Given the description of an element on the screen output the (x, y) to click on. 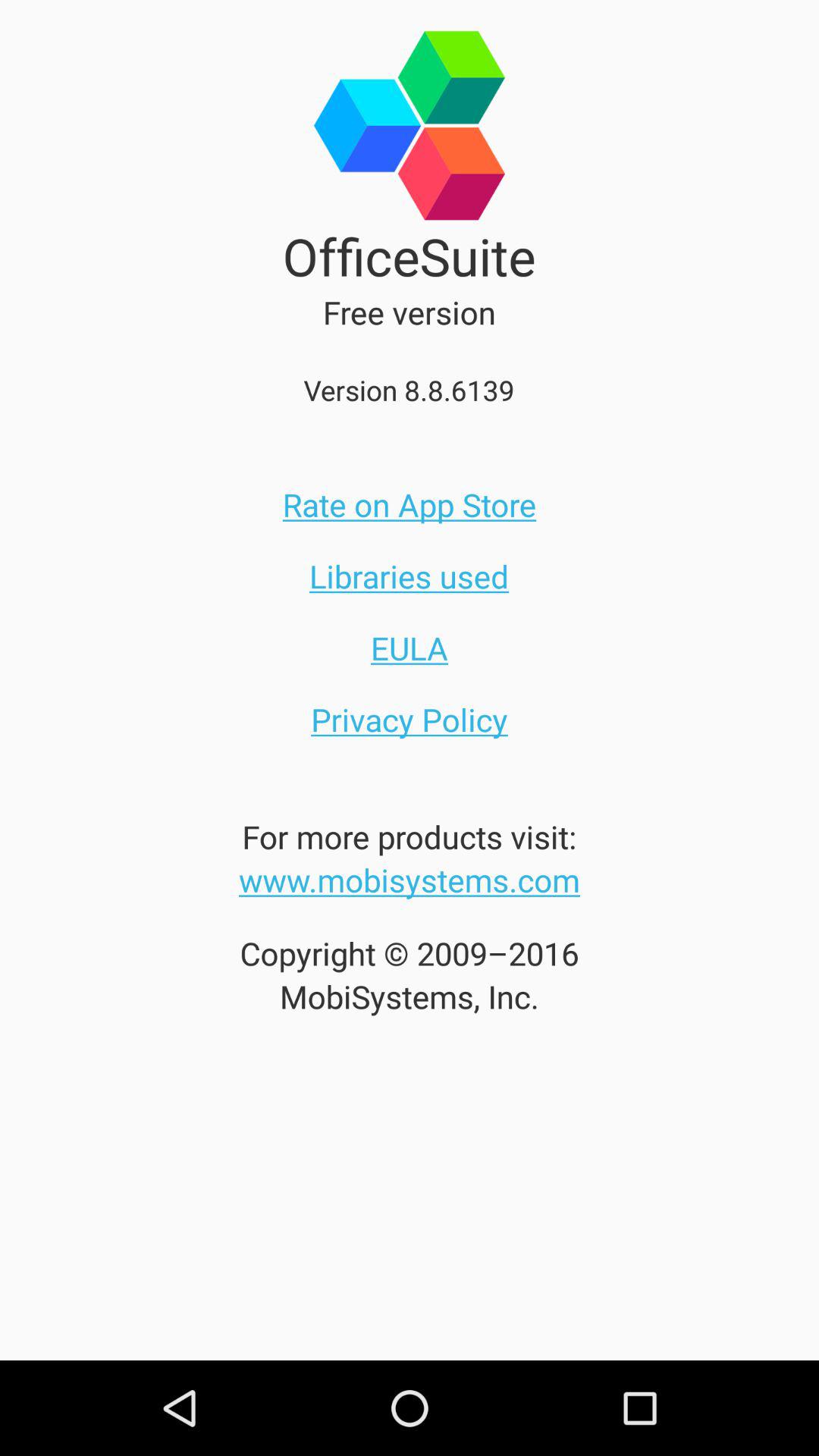
jump to the www.mobisystems.com item (409, 879)
